Given the description of an element on the screen output the (x, y) to click on. 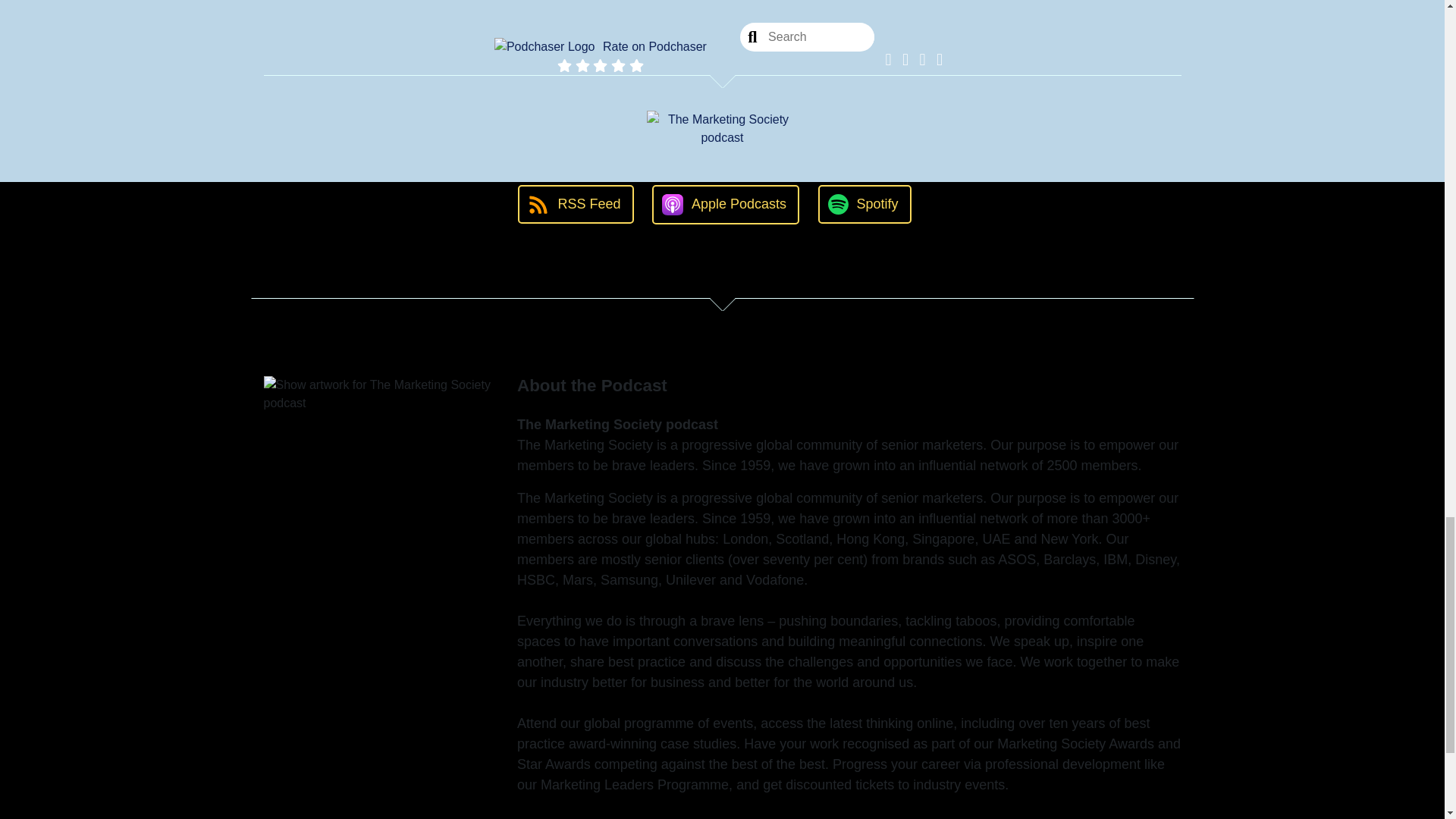
RSS Feed (575, 204)
Spotify (863, 204)
Apple Podcasts (725, 204)
